Given the description of an element on the screen output the (x, y) to click on. 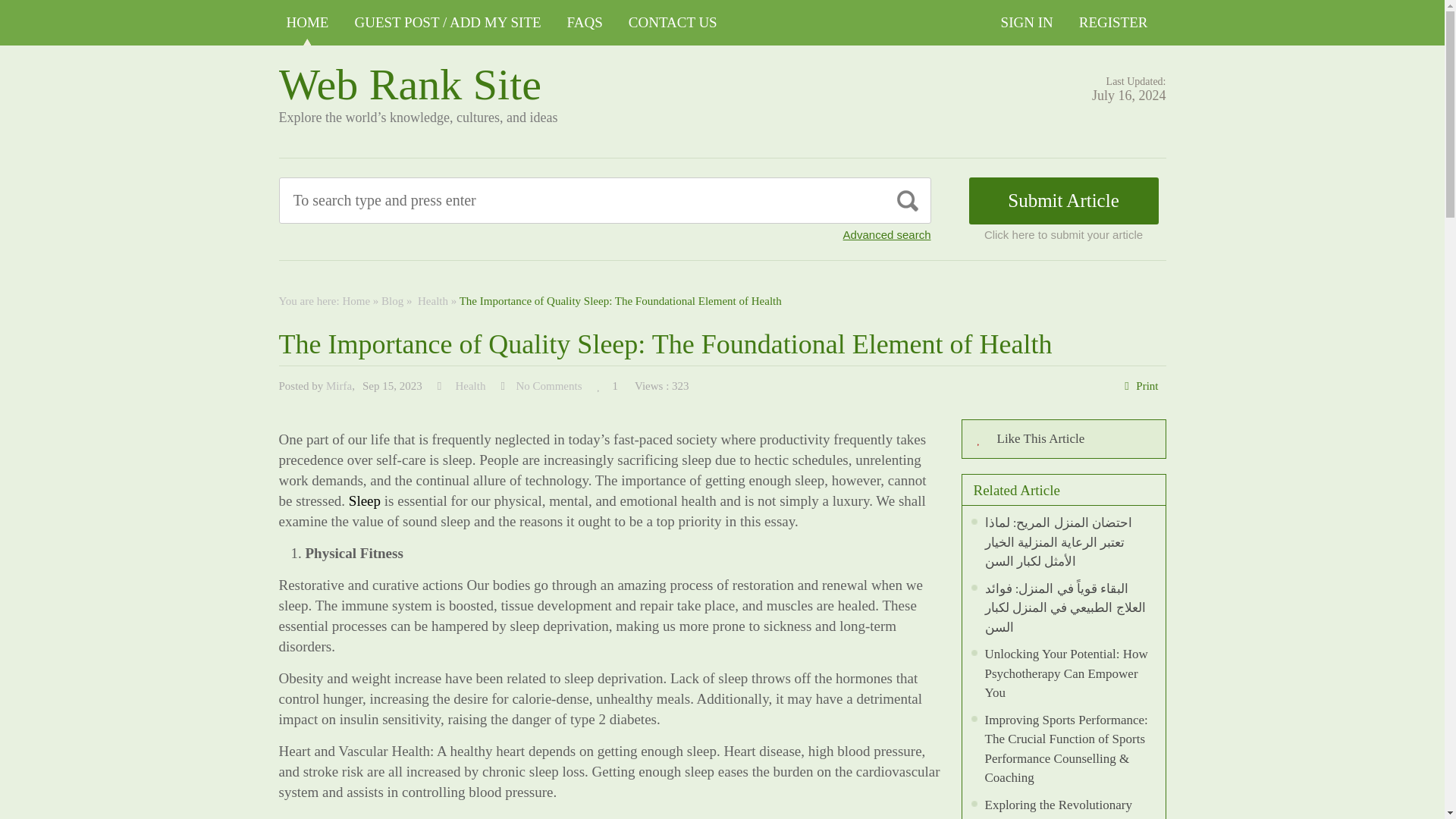
Posts by Mirfa (339, 386)
No Comments (547, 386)
 Health (431, 300)
CONTACT US (673, 22)
Web Rank Site (410, 83)
FAQS (584, 22)
Unlocking Your Potential: How Psychotherapy Can Empower You (1065, 673)
Like This Article (1063, 438)
HOME (307, 22)
Home (355, 300)
Blog (392, 300)
Print (1146, 386)
Submit Article (1063, 200)
Sleep (364, 500)
